Given the description of an element on the screen output the (x, y) to click on. 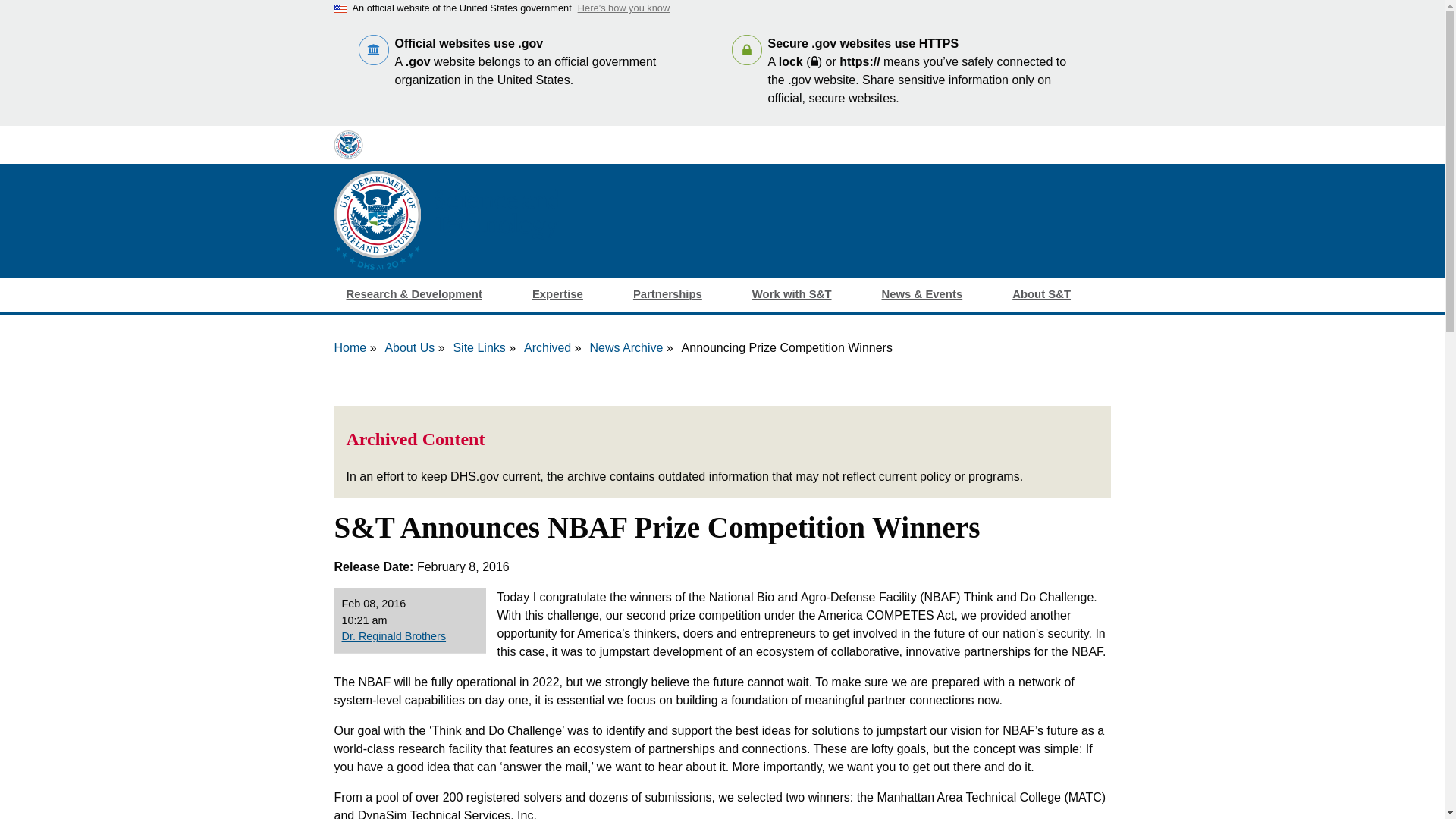
About Us (408, 347)
Expertise (570, 294)
Home (349, 347)
Archived (547, 347)
Site Links (478, 347)
Partnerships (680, 294)
Dr. Reginald Brothers (408, 636)
News Archive (625, 347)
